Given the description of an element on the screen output the (x, y) to click on. 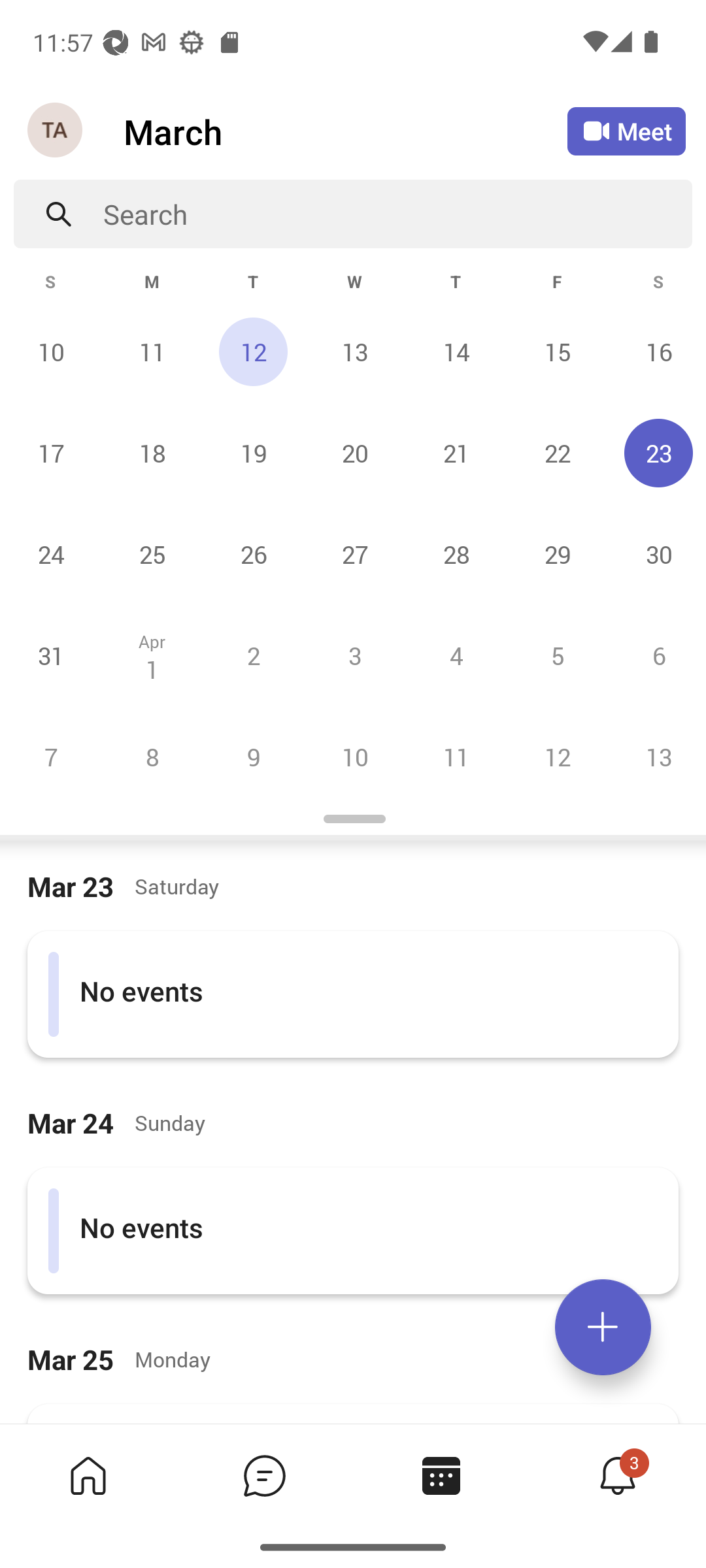
Navigation (56, 130)
Meet Meet now or join with an ID (626, 130)
March March Calendar Agenda View (345, 131)
Search (397, 213)
Sunday, March 10 10 (50, 351)
Monday, March 11 11 (151, 351)
Tuesday, March 12, Today 12 (253, 351)
Wednesday, March 13 13 (354, 351)
Thursday, March 14 14 (455, 351)
Friday, March 15 15 (556, 351)
Saturday, March 16 16 (656, 351)
Sunday, March 17 17 (50, 452)
Monday, March 18 18 (151, 452)
Tuesday, March 19 19 (253, 452)
Wednesday, March 20 20 (354, 452)
Thursday, March 21 21 (455, 452)
Friday, March 22 22 (556, 452)
Saturday, March 23, Selected 23 (656, 452)
Sunday, March 24 24 (50, 554)
Monday, March 25 25 (151, 554)
Tuesday, March 26 26 (253, 554)
Wednesday, March 27 27 (354, 554)
Thursday, March 28 28 (455, 554)
Friday, March 29 29 (556, 554)
Saturday, March 30 30 (656, 554)
Sunday, March 31 31 (50, 655)
Monday, April 1 Apr 1 (151, 655)
Tuesday, April 2 2 (253, 655)
Wednesday, April 3 3 (354, 655)
Thursday, April 4 4 (455, 655)
Friday, April 5 5 (556, 655)
Saturday, April 6 6 (656, 655)
Sunday, April 7 7 (50, 756)
Monday, April 8 8 (151, 756)
Tuesday, April 9 9 (253, 756)
Wednesday, April 10 10 (354, 756)
Thursday, April 11 11 (455, 756)
Friday, April 12 12 (556, 756)
Saturday, April 13 13 (656, 756)
Expand meetings menu (602, 1327)
Home tab,1 of 4, not selected (88, 1475)
Chat tab,2 of 4, not selected (264, 1475)
Calendar tab, 3 of 4 (441, 1475)
Activity tab,4 of 4, not selected, 3 new 3 (617, 1475)
